Given the description of an element on the screen output the (x, y) to click on. 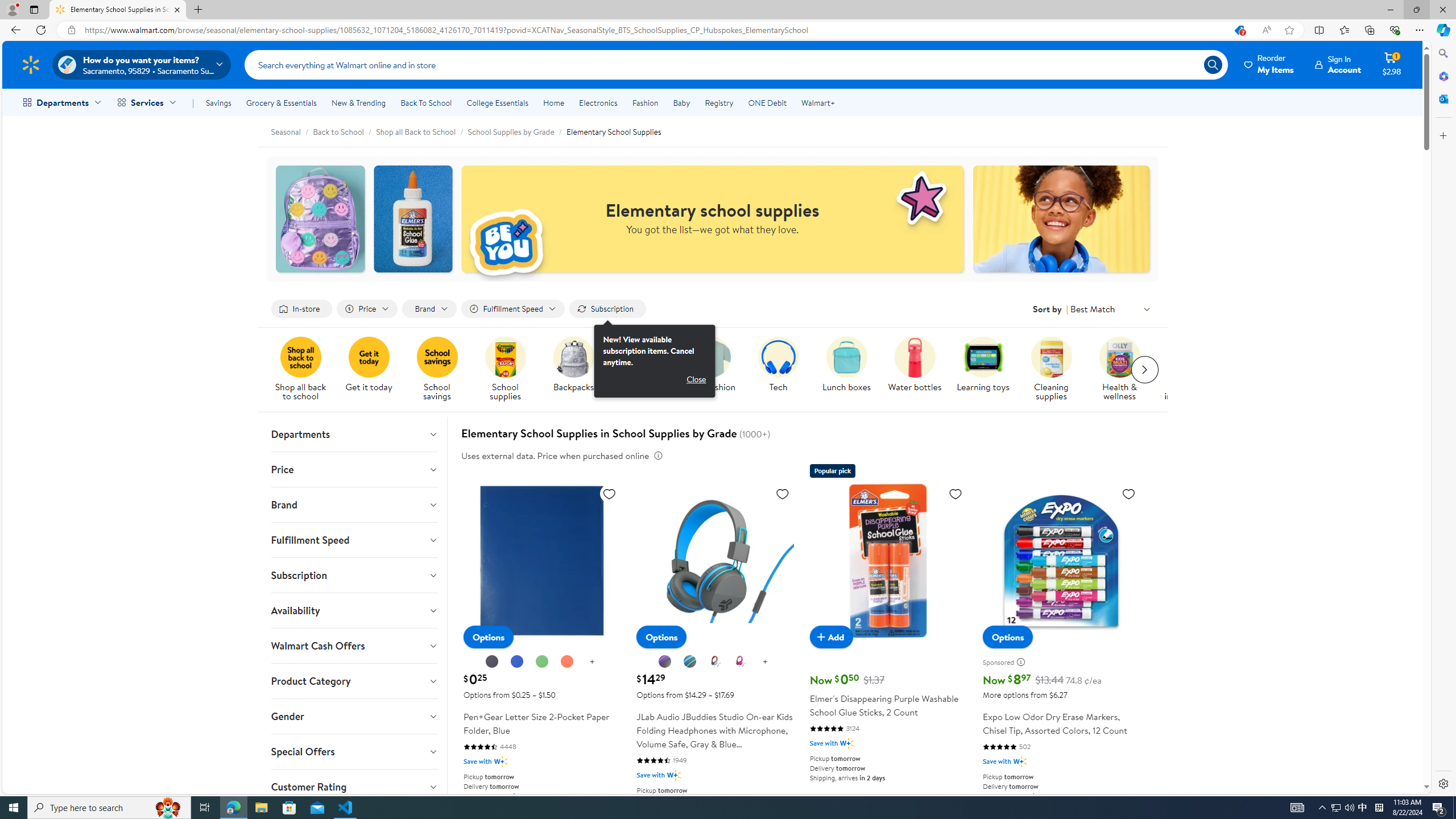
Green (542, 662)
Filter by Brand not applied, activate to change (429, 308)
Filter by Price not applied, activate to change (366, 308)
Cleaning supplies Cleaning supplies (1051, 369)
Pink (739, 661)
Brand (354, 504)
Gray (689, 661)
